Given the description of an element on the screen output the (x, y) to click on. 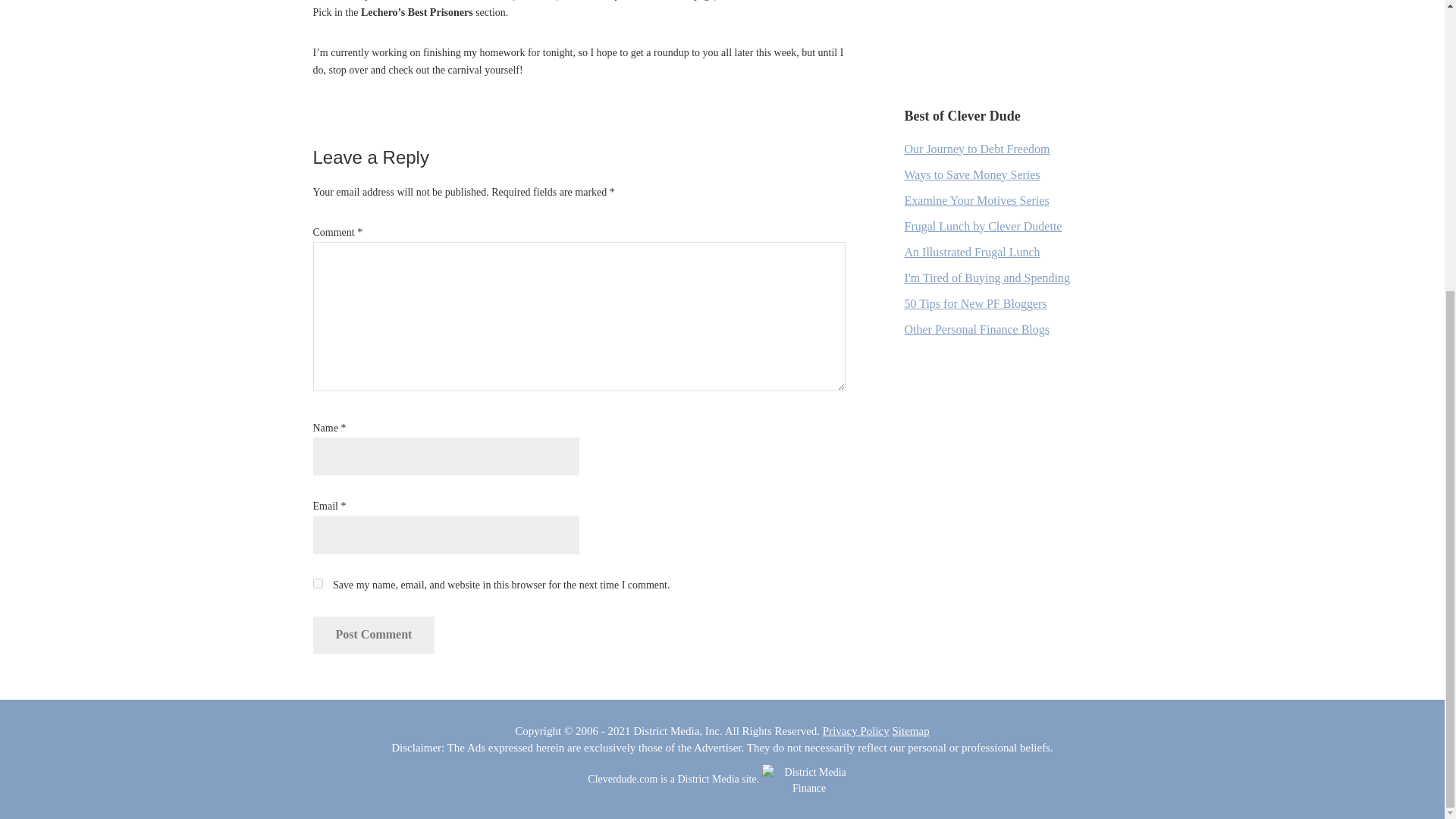
Sitemap (909, 730)
Examine Your Motives Series (976, 200)
Frugal Lunch by Clever Dudette (982, 226)
Our Journey to Debt Freedom (976, 148)
Privacy Policy (855, 730)
Ways to Save Money Series (971, 174)
Post Comment (373, 634)
yes (317, 583)
An Illustrated Frugal Lunch (971, 251)
50 Tips for New PF Bloggers (975, 303)
Post Comment (373, 634)
I'm Tired of Buying and Spending (986, 277)
Other Personal Finance Blogs (976, 328)
